Given the description of an element on the screen output the (x, y) to click on. 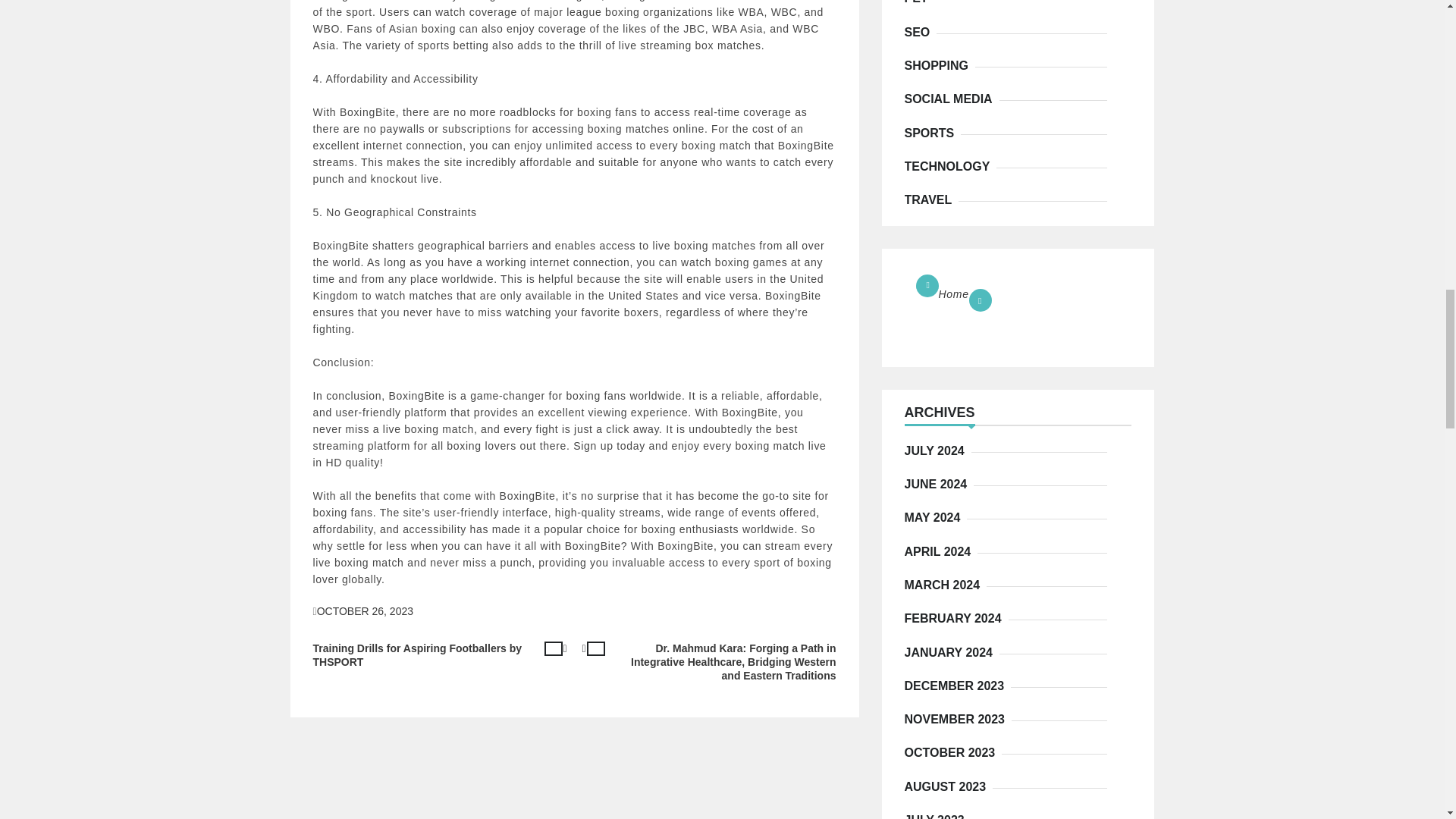
OCTOBER 26, 2023 (365, 611)
Training Drills for Aspiring Footballers by THSPORT (443, 655)
